Given the description of an element on the screen output the (x, y) to click on. 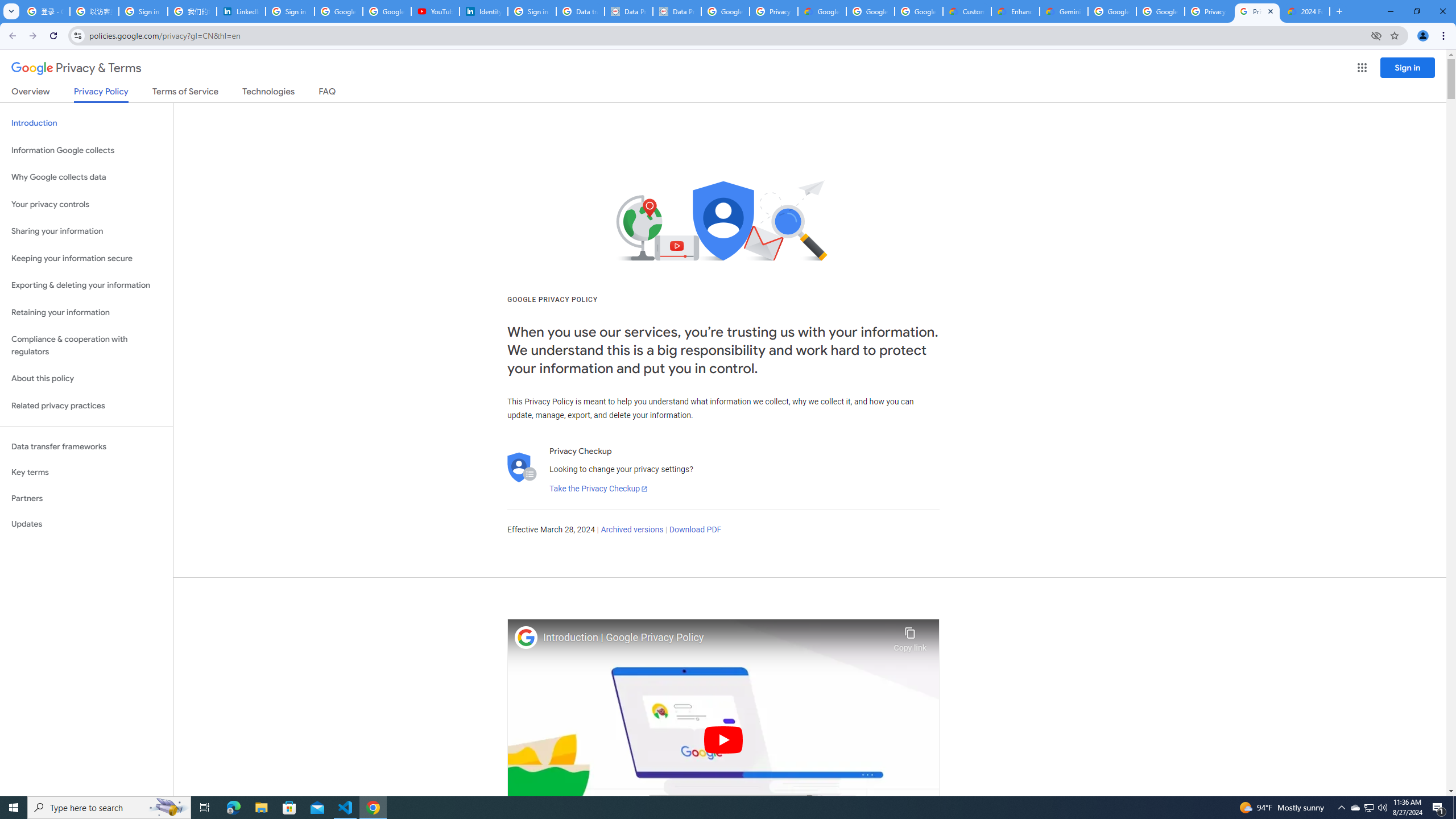
Google Cloud Platform (1160, 11)
Download PDF (695, 529)
Your privacy controls (86, 204)
Customer Care | Google Cloud (966, 11)
Photo image of Google (526, 636)
Retaining your information (86, 312)
